Given the description of an element on the screen output the (x, y) to click on. 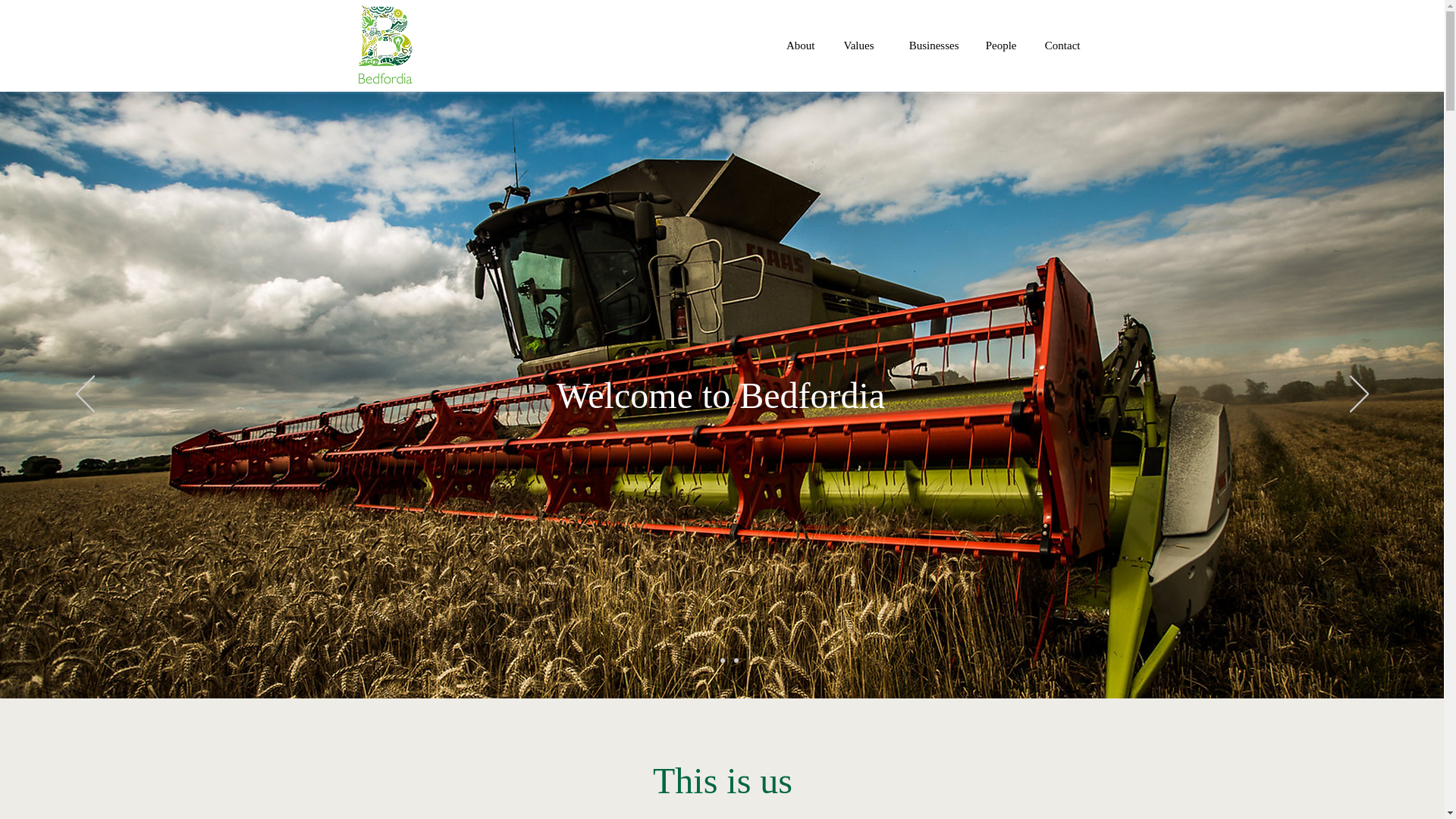
Contact (1059, 45)
Values (856, 45)
Businesses (928, 45)
People (999, 45)
About (798, 45)
